Given the description of an element on the screen output the (x, y) to click on. 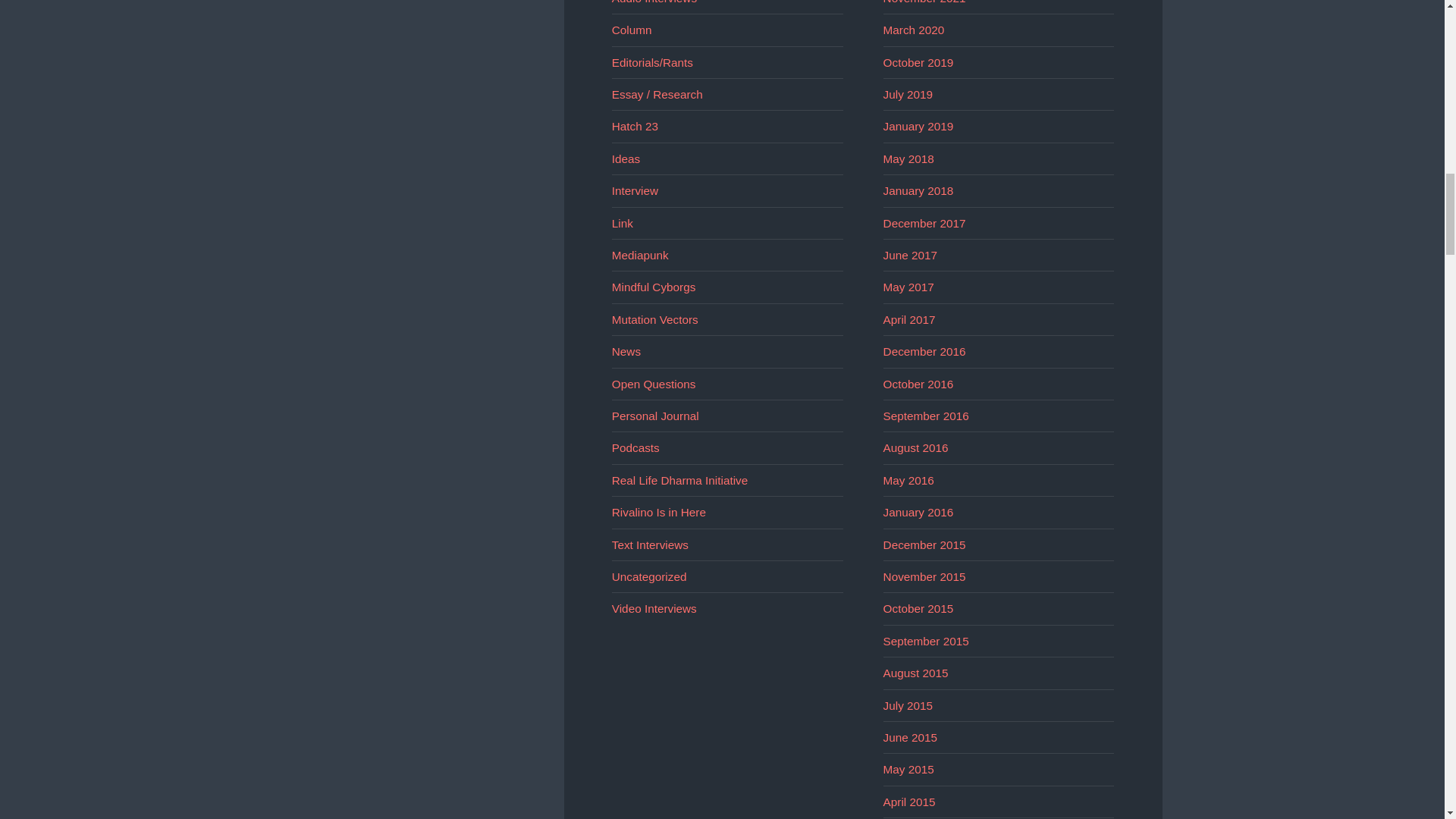
Audio Interviews (654, 2)
Open Questions (653, 383)
Mutation Vectors (654, 318)
Mediapunk (639, 254)
Interview (634, 190)
Hatch 23 (634, 125)
Link (622, 223)
Personal Journal (654, 415)
Mindful Cyborgs (653, 286)
Column (631, 29)
News (625, 350)
Podcasts (635, 447)
Ideas (625, 158)
Real Life Dharma Initiative (679, 480)
